Given the description of an element on the screen output the (x, y) to click on. 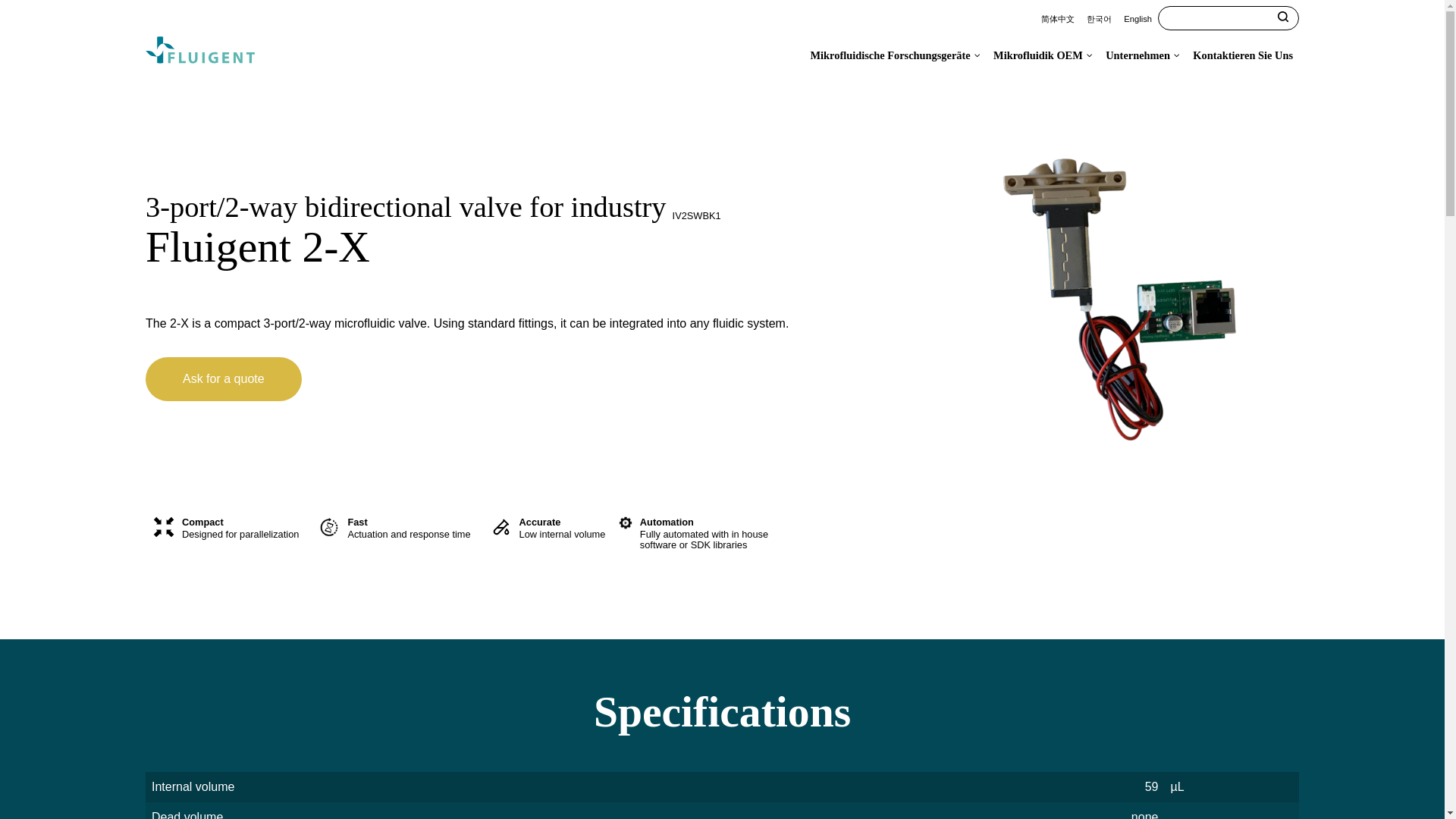
Ask for a quote (223, 379)
Mikrofluidik OEM (1043, 55)
Unternehmen (1142, 55)
Fluigent 2-X (510, 246)
ico bnf automation white (625, 522)
English (1137, 18)
Kontaktieren Sie Uns (1242, 55)
Specifications (721, 711)
ico bnf time white (328, 526)
Ask for a quote (510, 379)
